Given the description of an element on the screen output the (x, y) to click on. 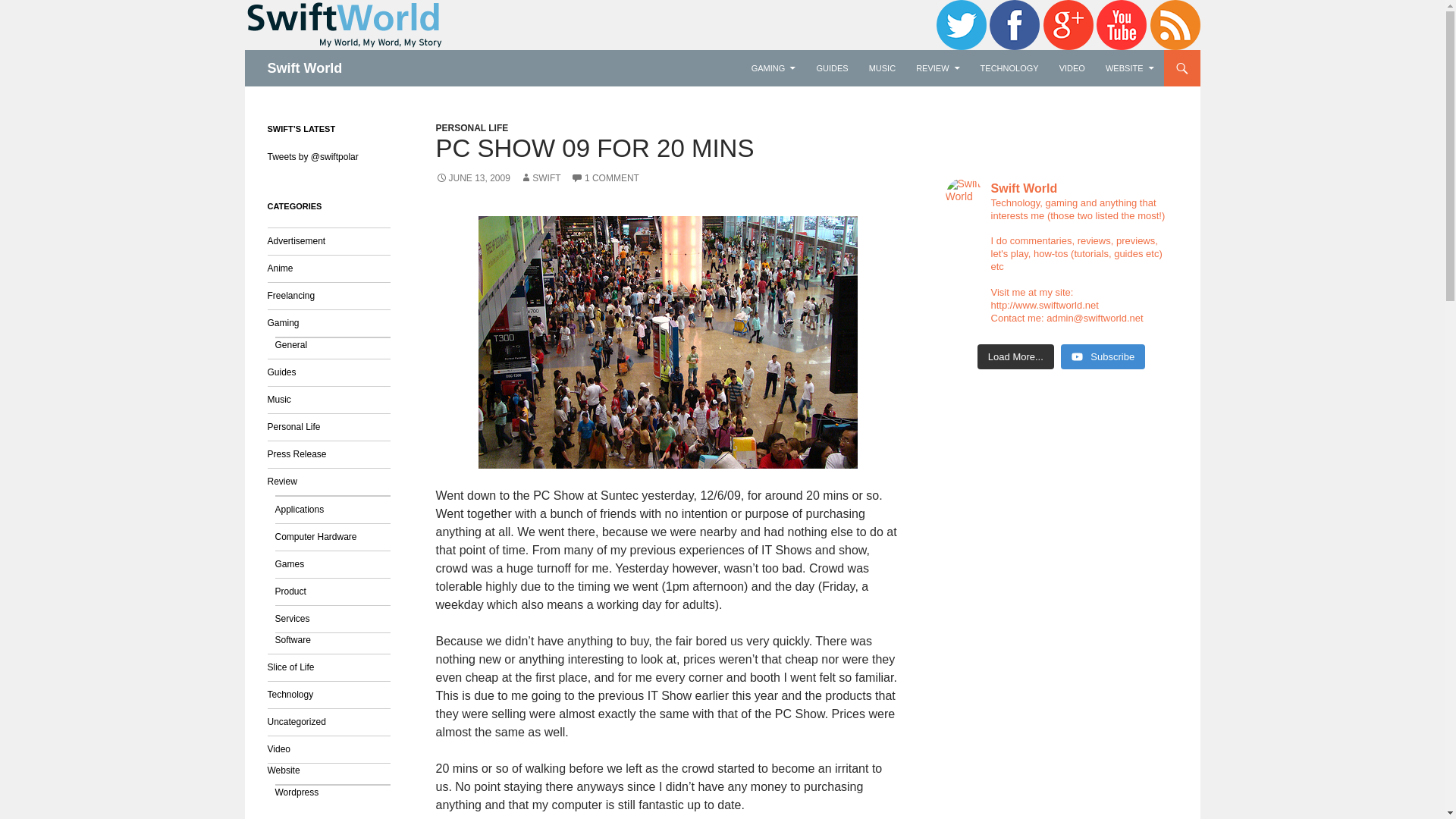
Swift World (304, 67)
MUSIC (882, 67)
REVIEW (937, 67)
PERSONAL LIFE (471, 127)
GAMING (773, 67)
VIDEO (1071, 67)
JUNE 13, 2009 (472, 177)
1 COMMENT (604, 177)
TECHNOLOGY (1009, 67)
WEBSITE (1129, 67)
GUIDES (831, 67)
SWIFT (539, 177)
Singapore Crowd (667, 342)
